Given the description of an element on the screen output the (x, y) to click on. 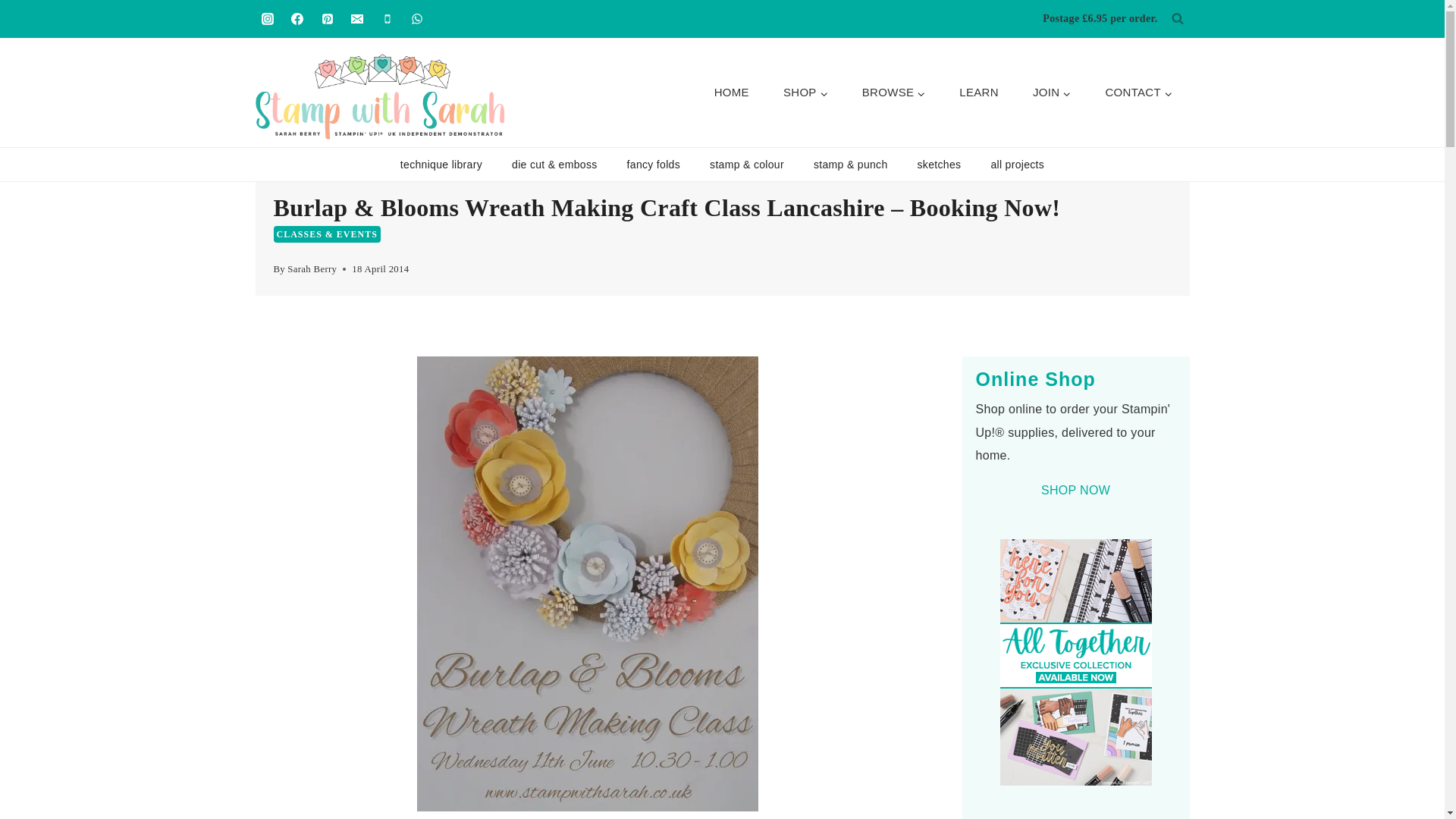
fancy folds (652, 164)
CONTACT (1138, 92)
BROWSE (893, 92)
JOIN (1050, 92)
technique library (440, 164)
HOME (731, 92)
SHOP (804, 92)
LEARN (979, 92)
